Given the description of an element on the screen output the (x, y) to click on. 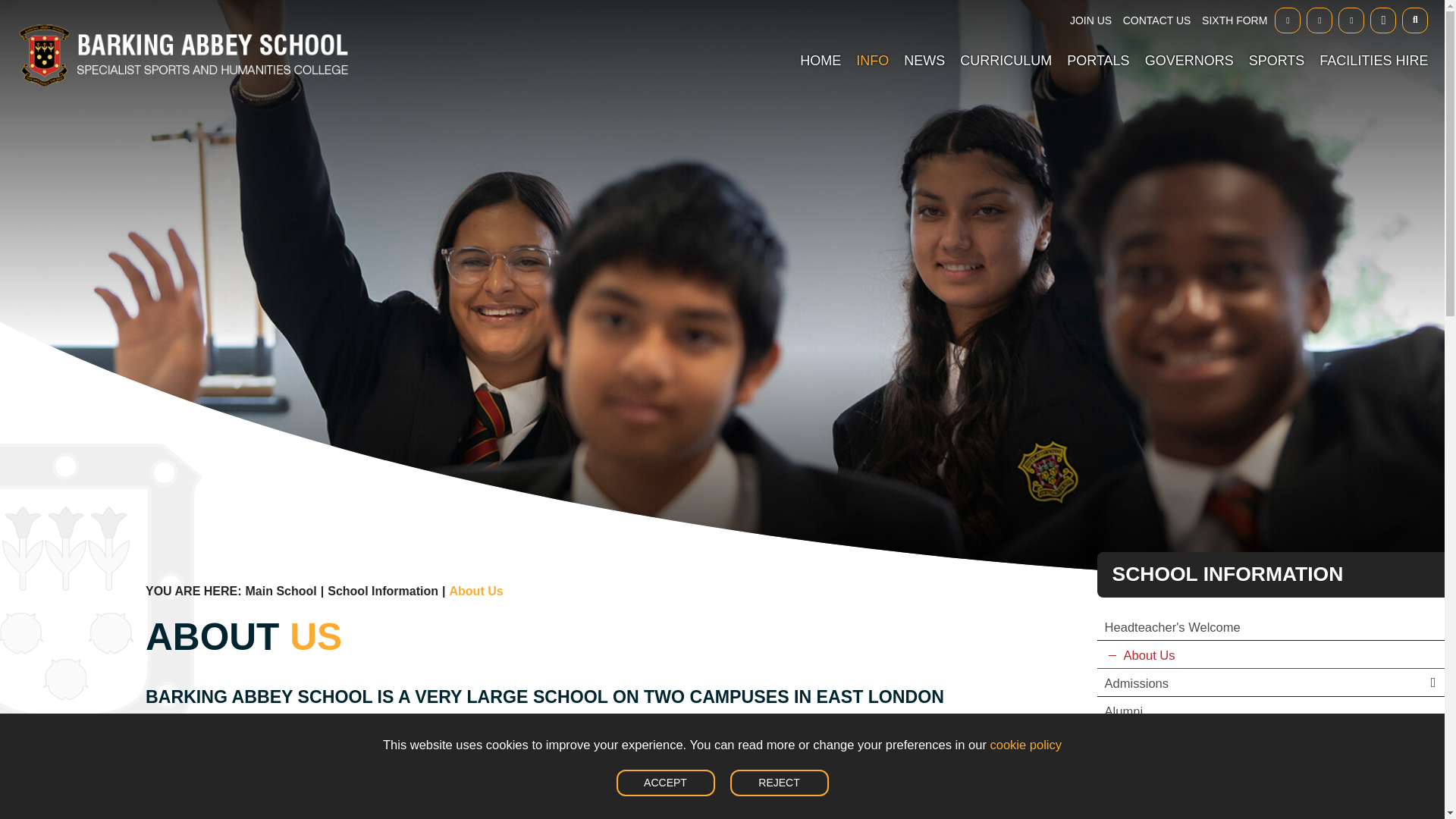
CURRICULUM (1005, 38)
HOME (820, 38)
School Information (872, 38)
NEWS (924, 38)
INFO (872, 38)
